Given the description of an element on the screen output the (x, y) to click on. 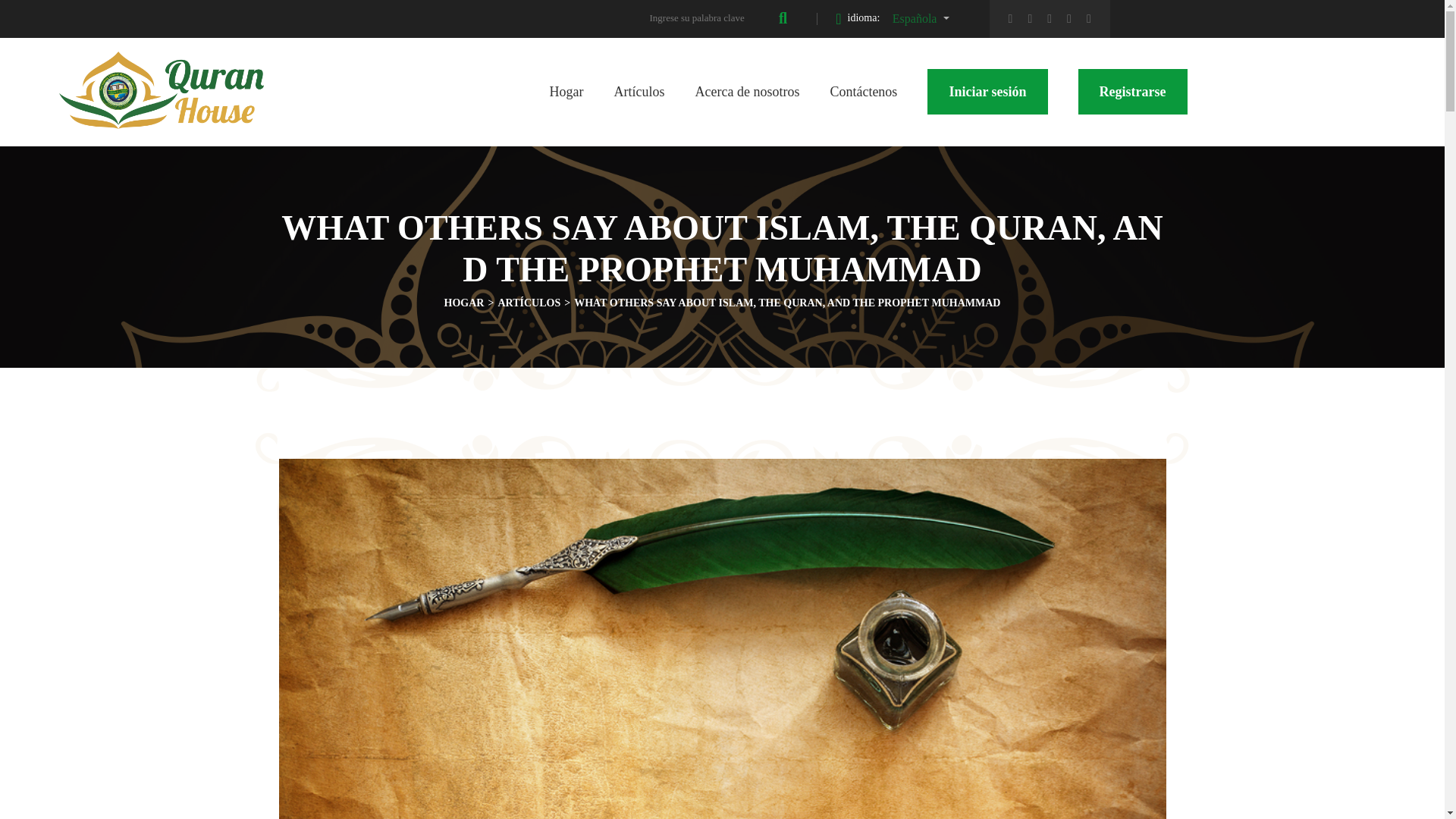
Acerca de nosotros (746, 91)
Hogar (160, 73)
Registrarse (1133, 91)
Acerca de nosotros (746, 91)
